Given the description of an element on the screen output the (x, y) to click on. 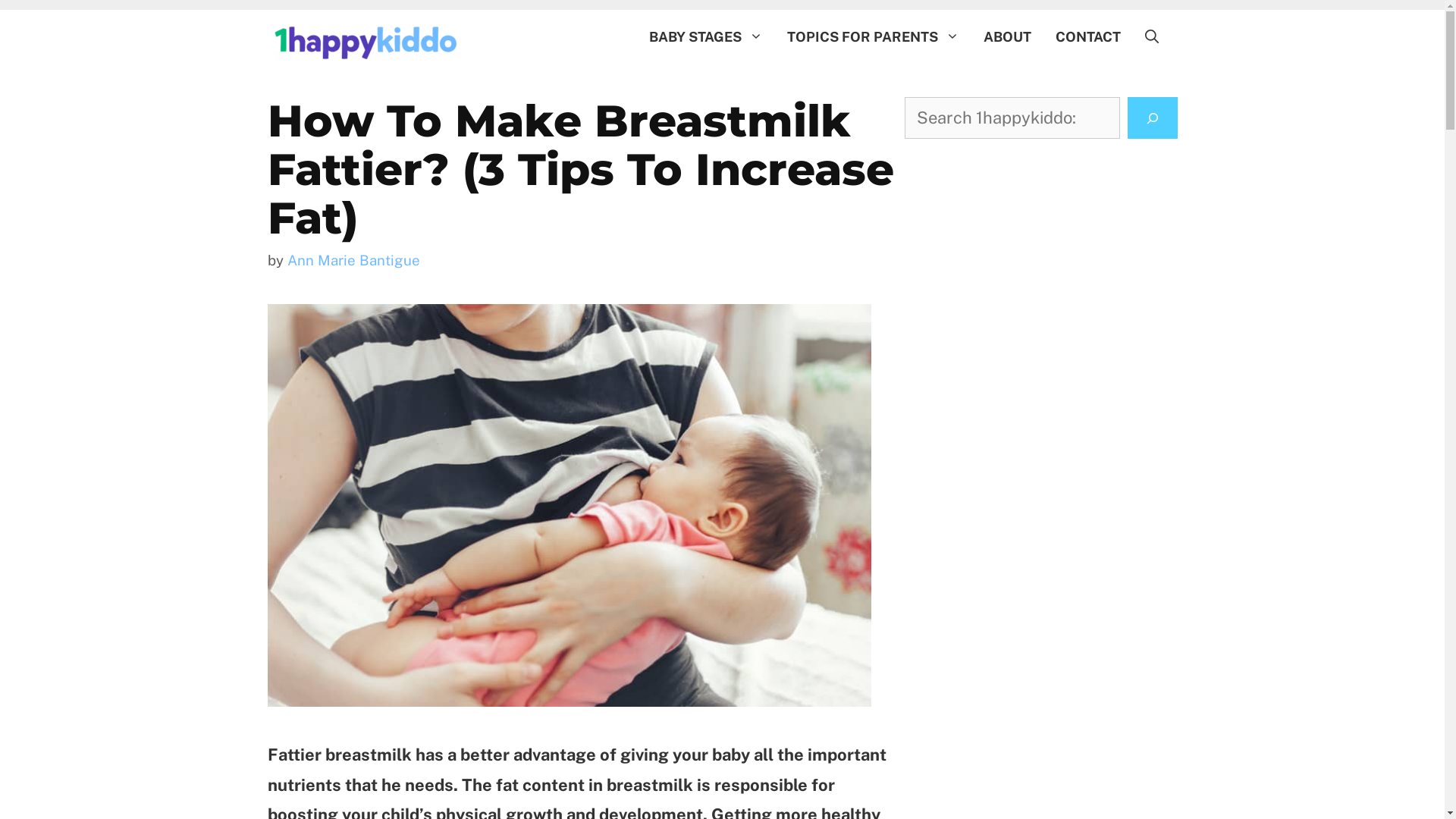
Ann Marie Bantigue Element type: text (352, 259)
TOPICS FOR PARENTS Element type: text (873, 36)
CONTACT Element type: text (1087, 36)
BABY STAGES Element type: text (706, 36)
ABOUT Element type: text (1006, 36)
